Given the description of an element on the screen output the (x, y) to click on. 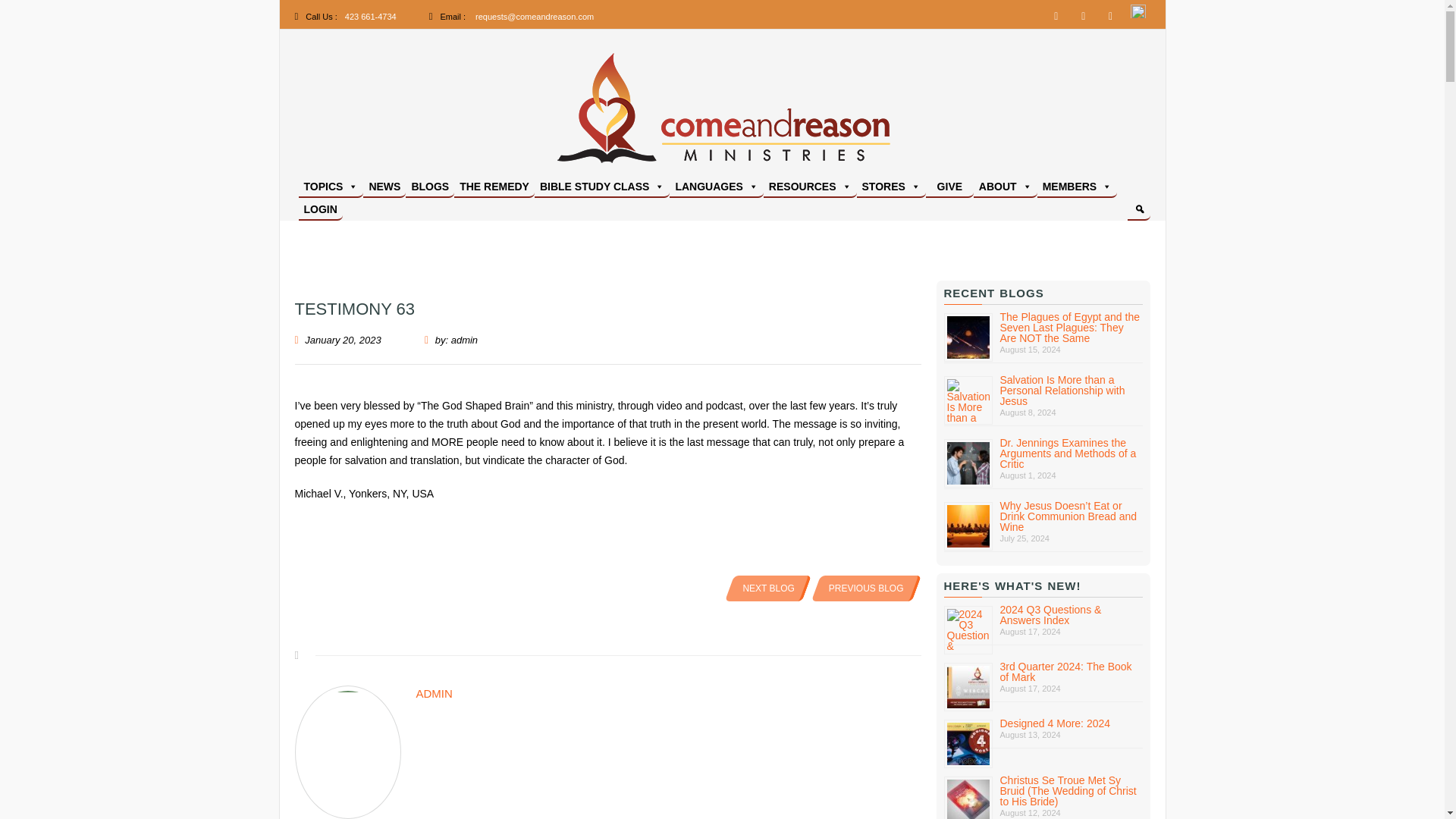
Click to email us (535, 16)
Click to go to our Facebook page (1055, 15)
Come And Reason Ministries (868, 186)
423 661-4734 (370, 16)
BLOGS (430, 186)
Click to go to our Instagram page (1110, 15)
BIBLE STUDY CLASS (601, 186)
Click to go to our Twitter page (1083, 15)
Click to go to our videos on Odysee (1137, 15)
THE REMEDY (494, 186)
